Given the description of an element on the screen output the (x, y) to click on. 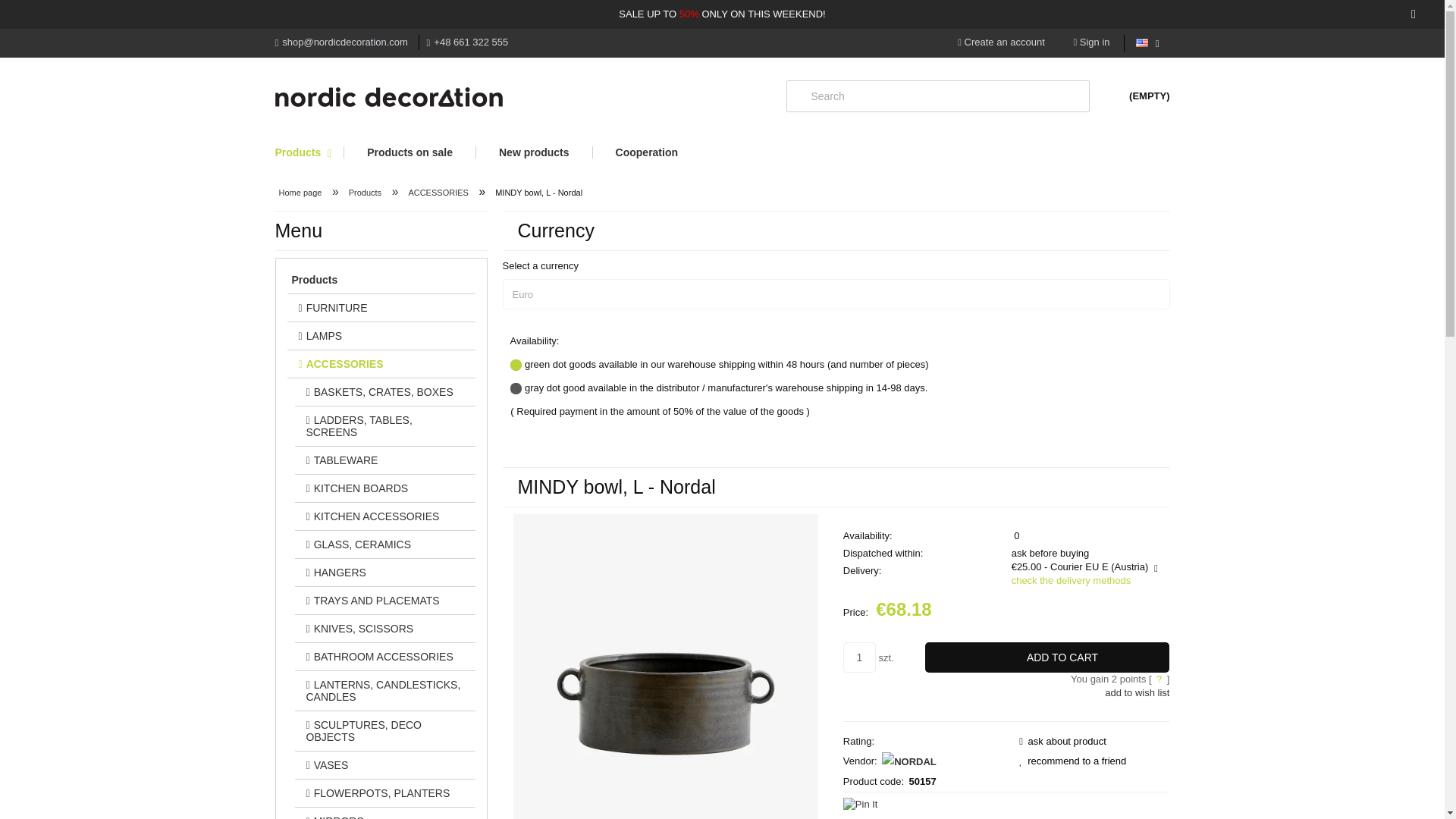
Create an account (1001, 41)
Home page (388, 97)
1 (859, 657)
Create an account (1001, 41)
Sign in (1091, 41)
Sign in (1091, 41)
Products (309, 152)
Cart (1137, 95)
Products (309, 152)
